Given the description of an element on the screen output the (x, y) to click on. 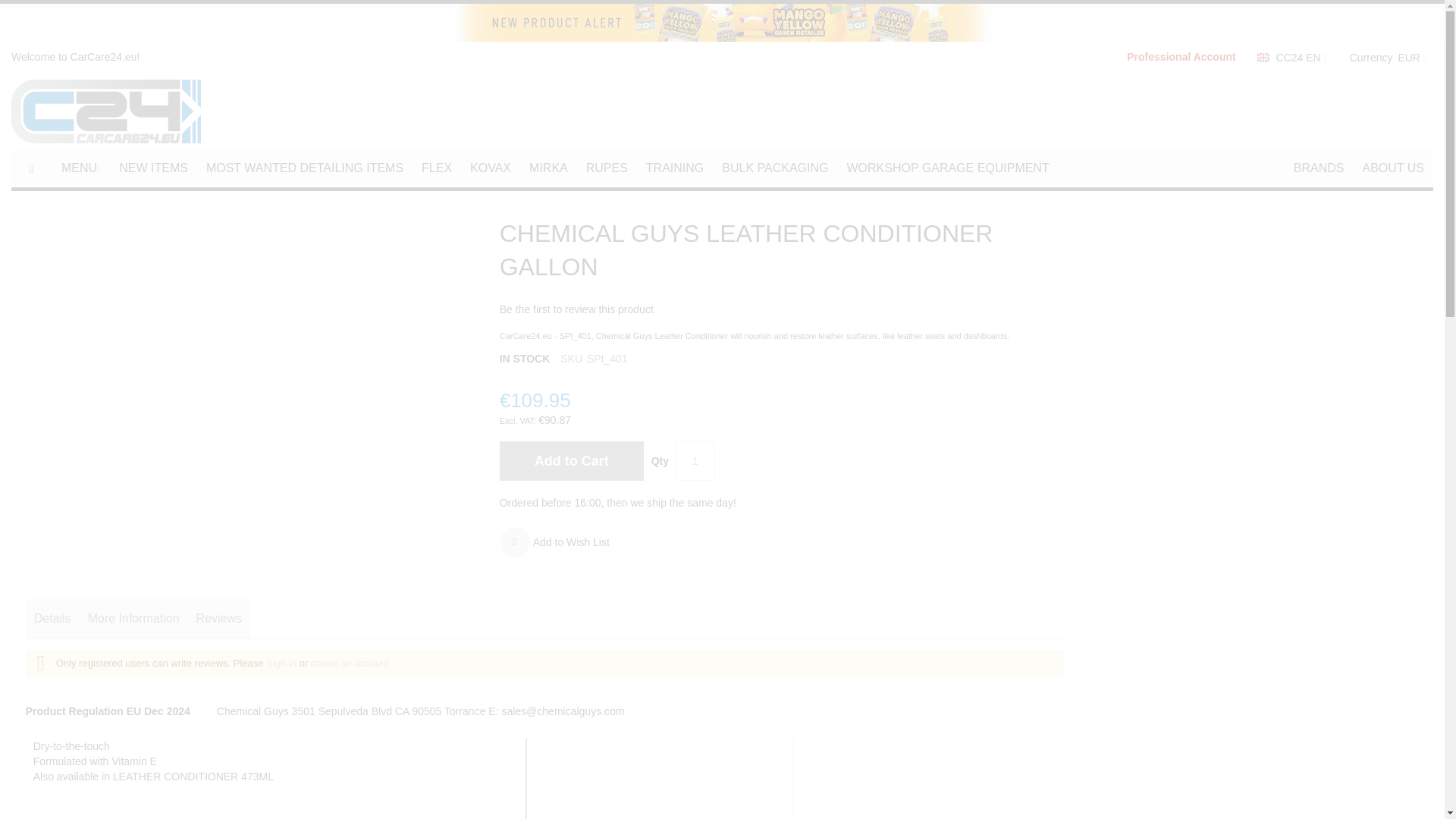
Add to Wish List (554, 542)
CarCare24.eu (105, 111)
About Us (1392, 168)
Professional Account (1180, 56)
Qty (694, 460)
Add to Cart (571, 460)
1 (694, 460)
BRANDS (1319, 168)
MENU (81, 168)
Language (1291, 57)
Availability (524, 359)
